Given the description of an element on the screen output the (x, y) to click on. 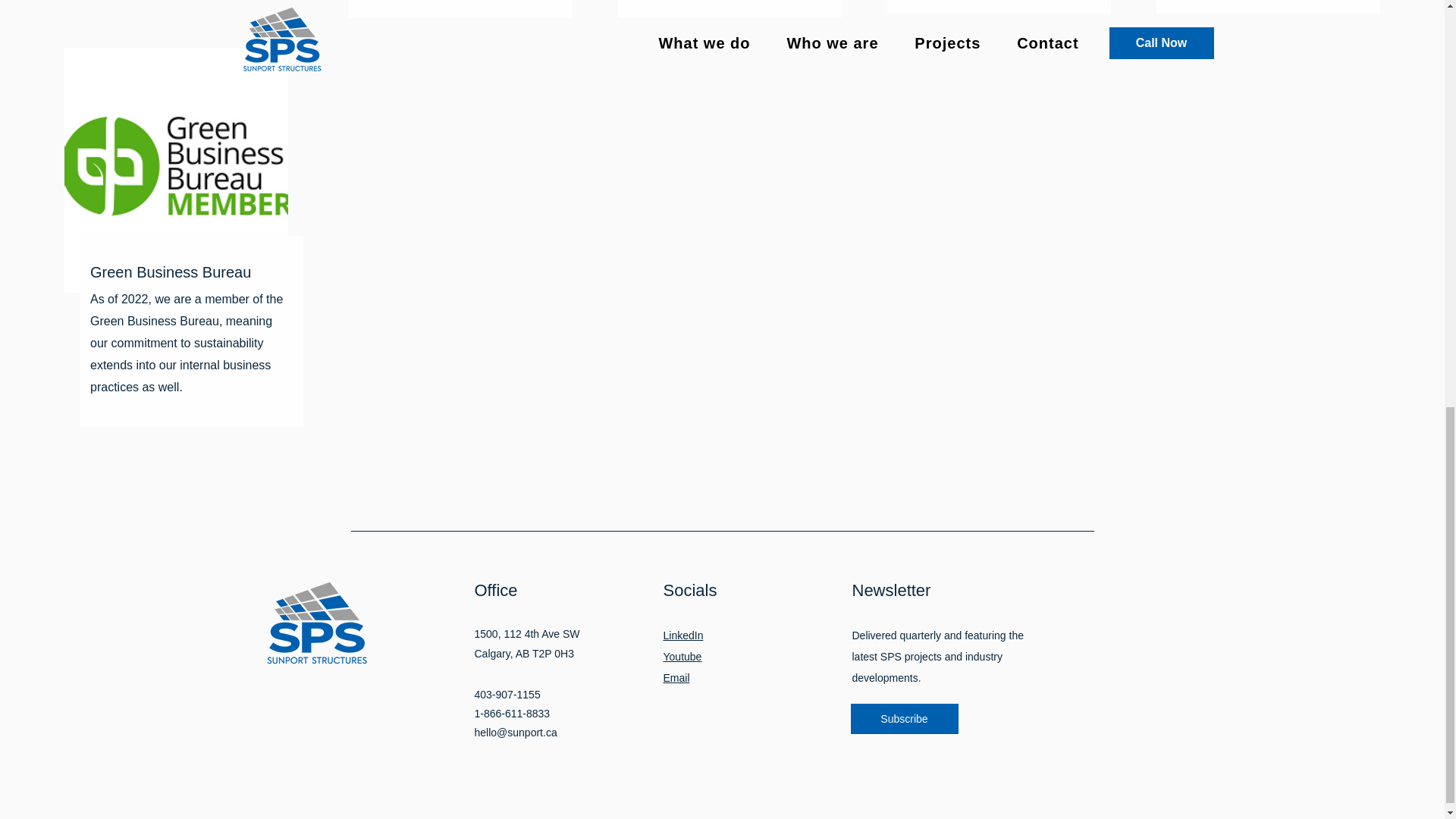
Subscribe (904, 718)
LinkedIn (682, 635)
Youtube (681, 656)
Email (675, 677)
